Given the description of an element on the screen output the (x, y) to click on. 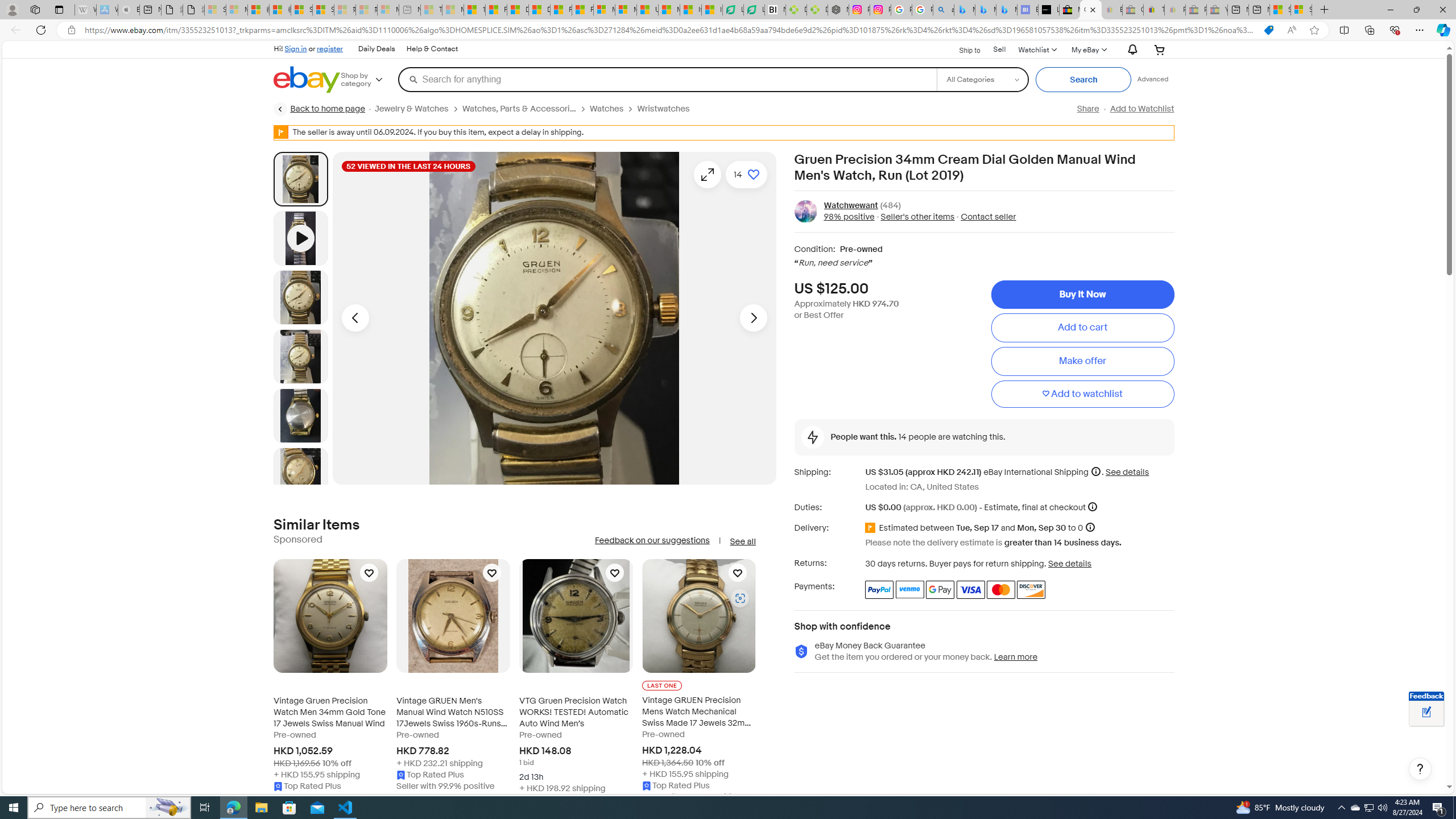
Contact seller (988, 216)
Share (1087, 108)
Help, opens dialogs (1420, 768)
Buy iPad - Apple - Sleeping (128, 9)
WARNING (280, 131)
Daily Deals (376, 49)
Sell (999, 49)
Sign in to your Microsoft account - Sleeping (215, 9)
Watchwewant (850, 205)
